Given the description of an element on the screen output the (x, y) to click on. 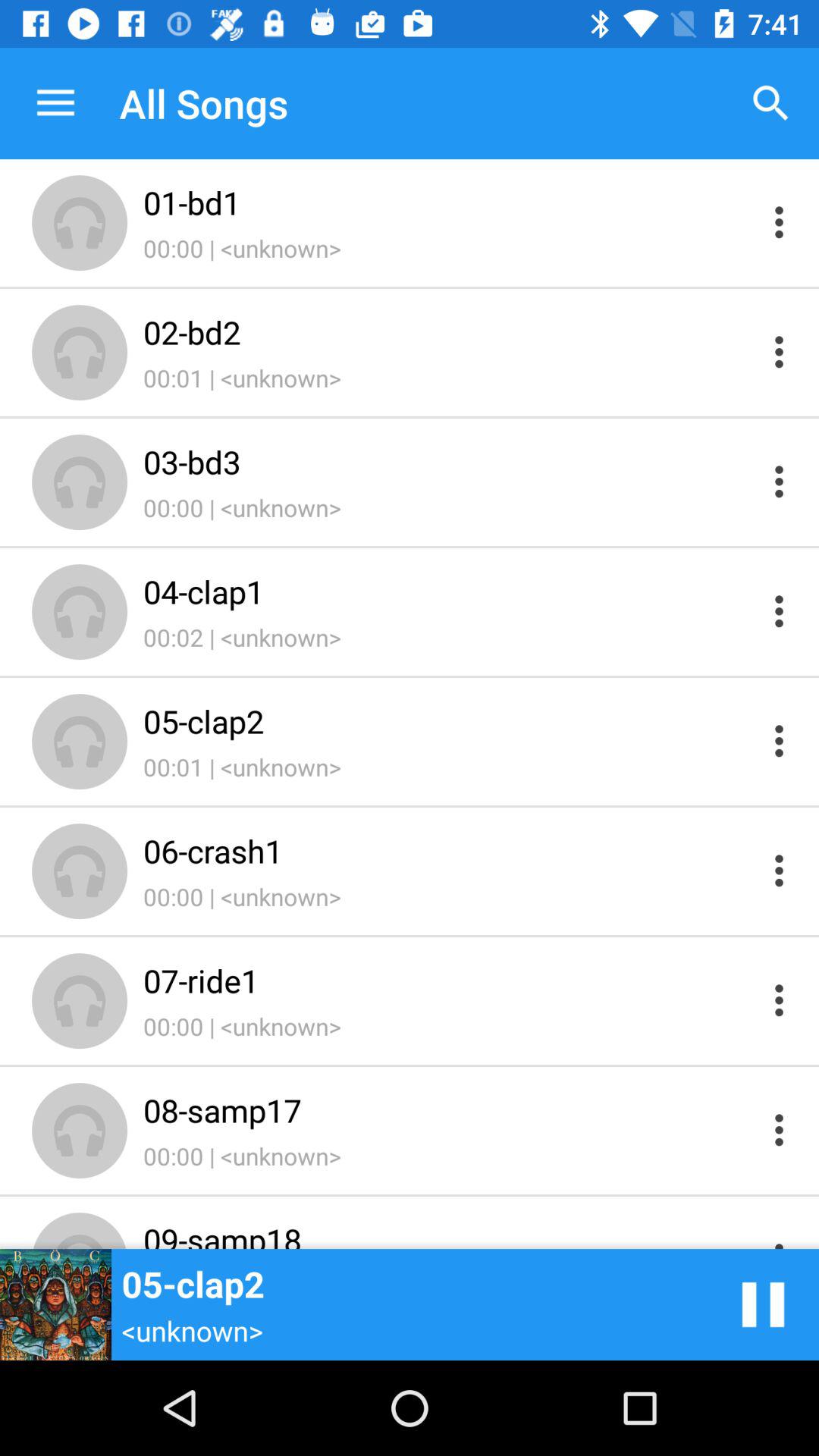
turn on item below the 00:02 | <unknown> item (449, 720)
